Given the description of an element on the screen output the (x, y) to click on. 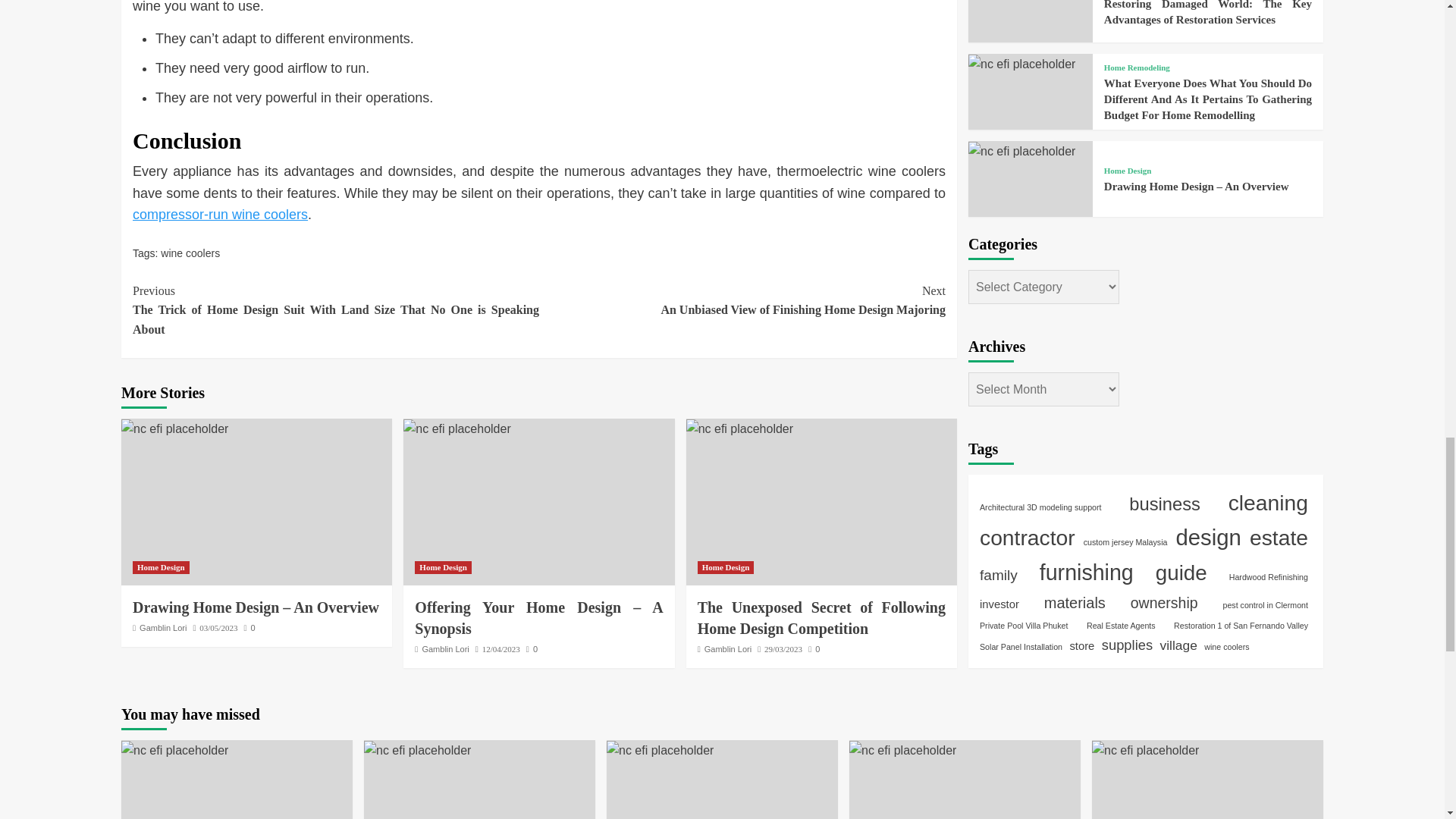
wine coolers (189, 253)
Offering Your Home Design - A Synopsis (457, 428)
Gamblin Lori (741, 300)
Drawing Home Design - An Overview (162, 627)
The Unexposed Secret of Following Home Design Competition (174, 428)
compressor-run wine coolers (739, 428)
Home Design (219, 214)
